Given the description of an element on the screen output the (x, y) to click on. 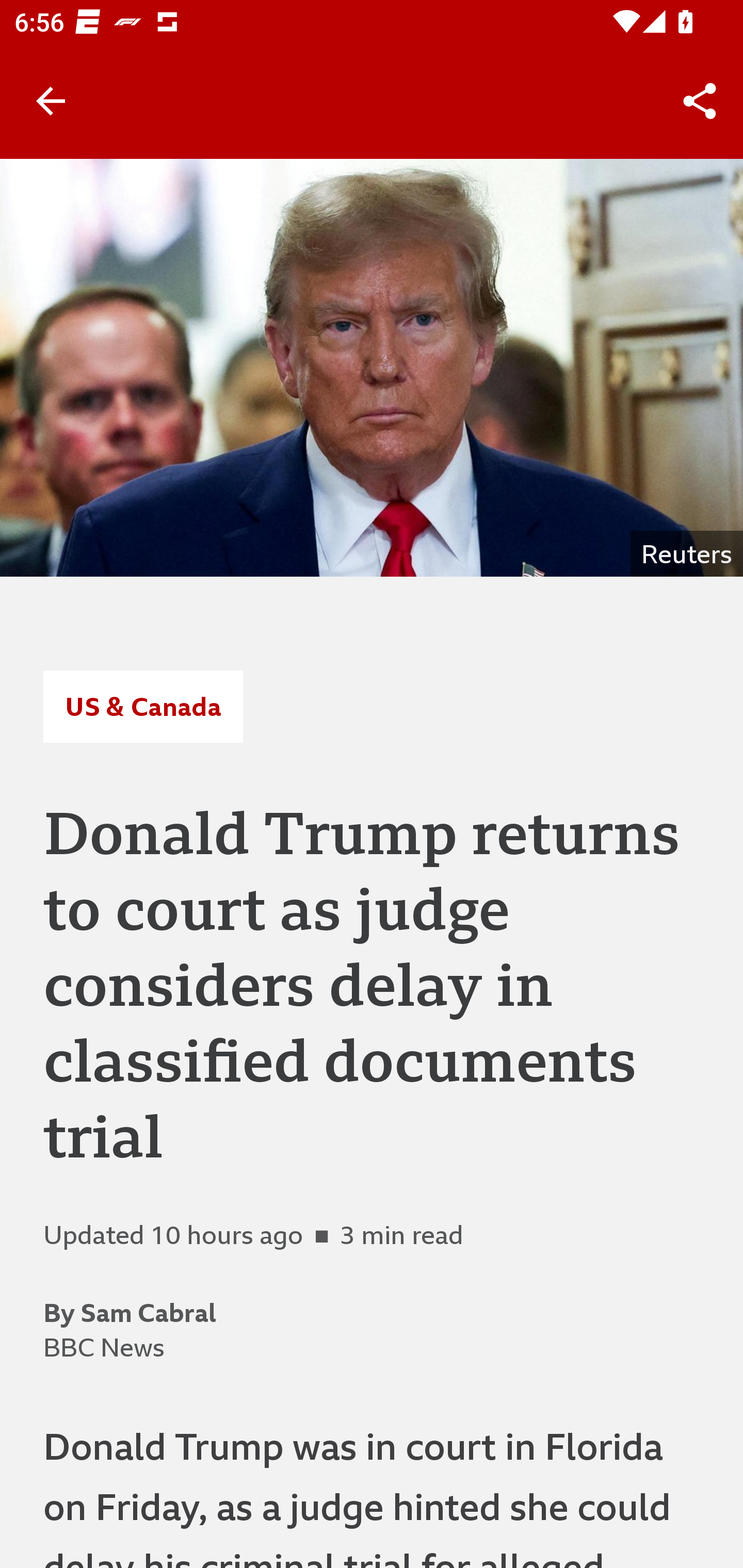
Back (50, 101)
Share (699, 101)
US & Canada (142, 706)
